Given the description of an element on the screen output the (x, y) to click on. 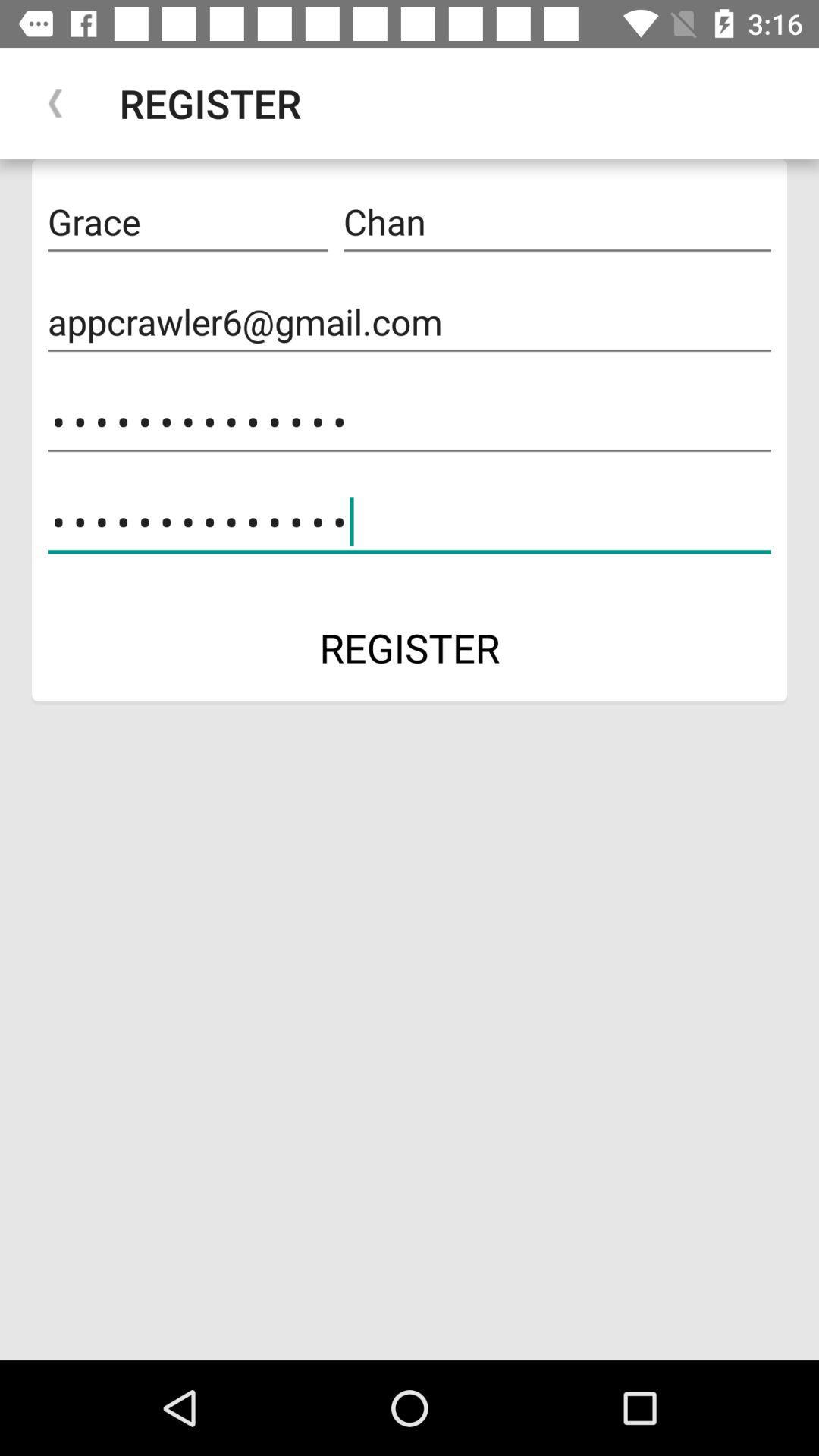
jump until the appcrawler6@gmail.com item (409, 322)
